Given the description of an element on the screen output the (x, y) to click on. 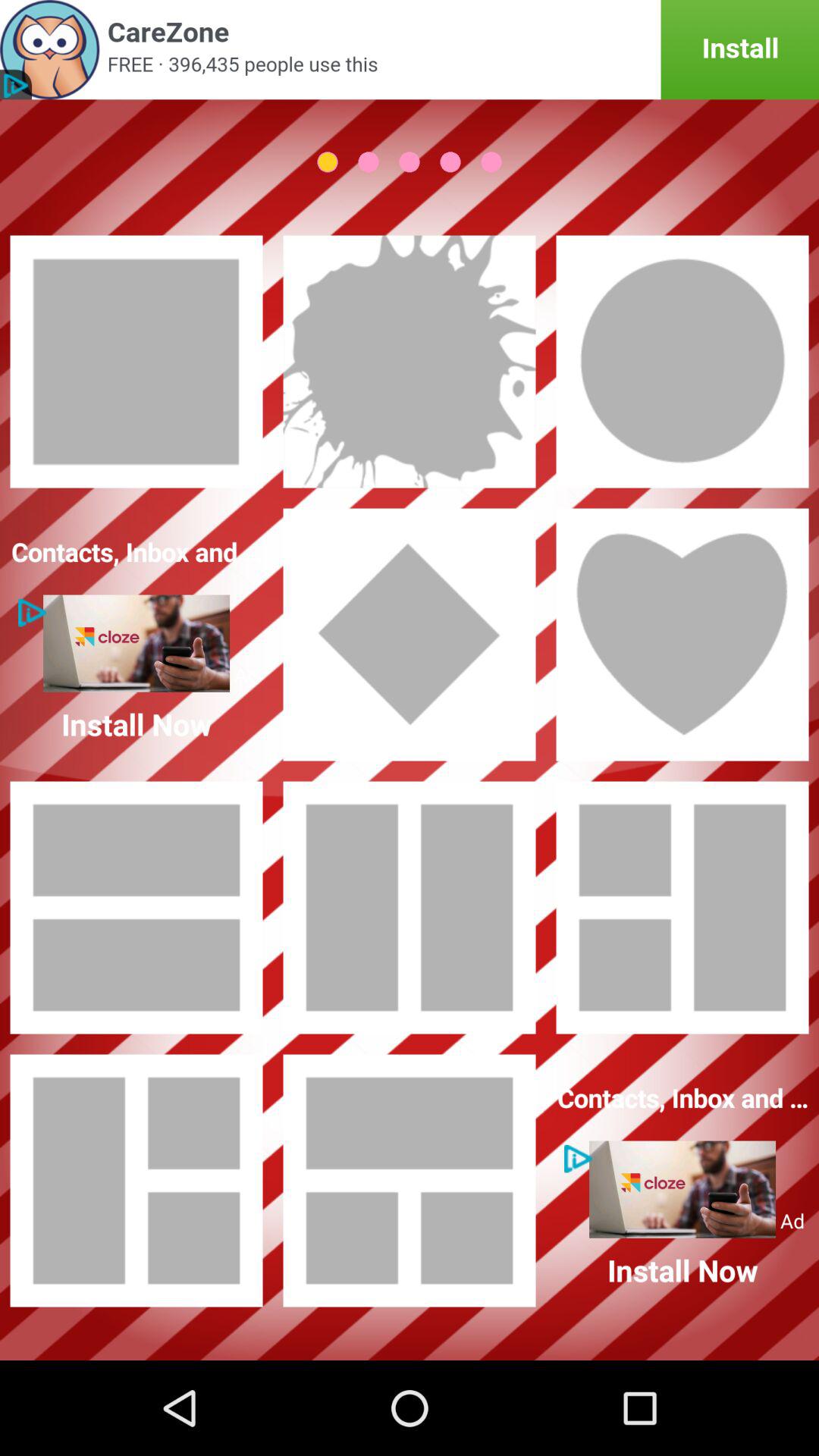
choose photo grid with one picture splatter edged option (409, 361)
